Given the description of an element on the screen output the (x, y) to click on. 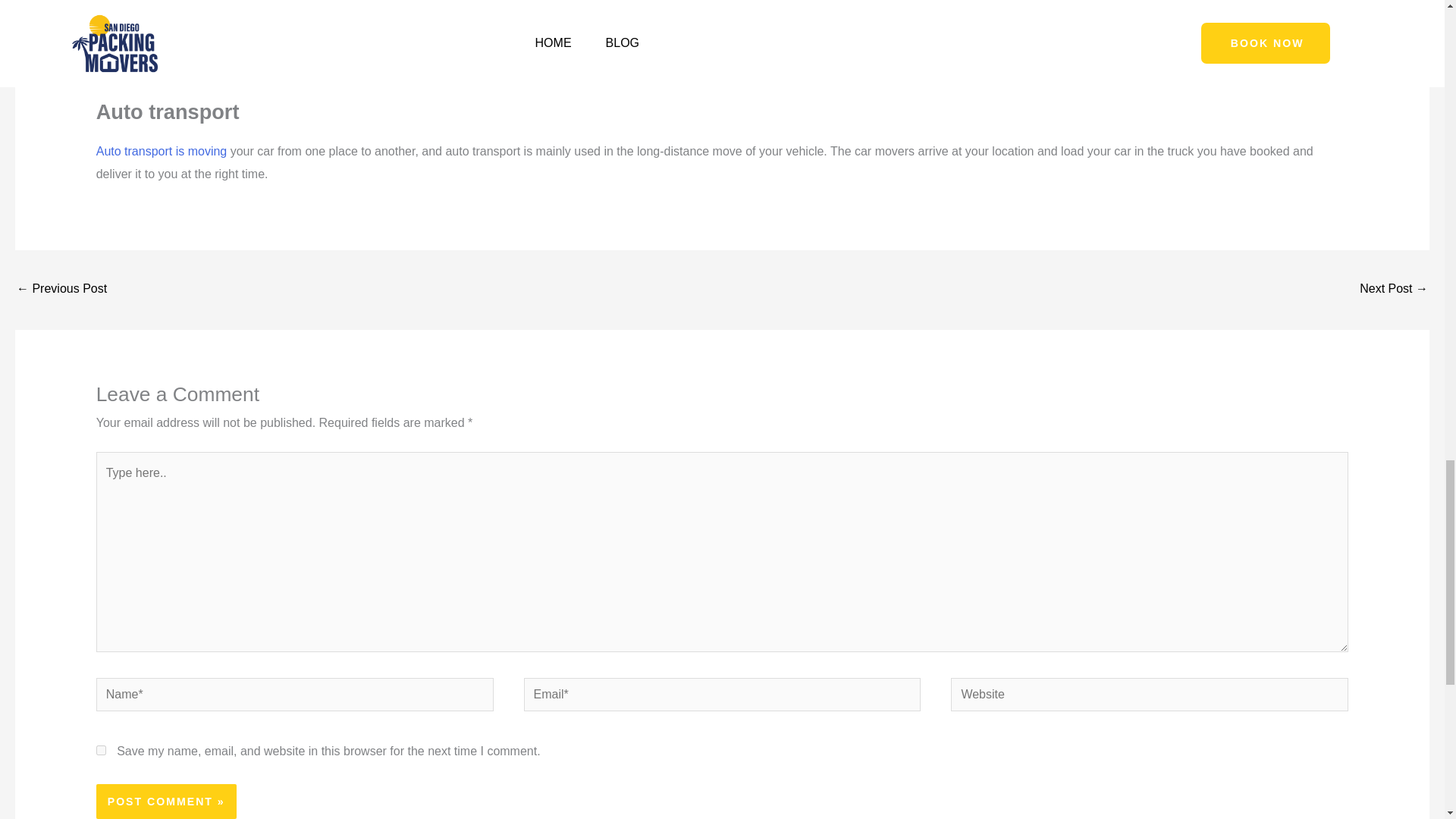
15 Up-and-Coming Trends About professional moving services (61, 289)
yes (101, 750)
Auto transport is moving (161, 151)
commercial move service (764, 44)
